Given the description of an element on the screen output the (x, y) to click on. 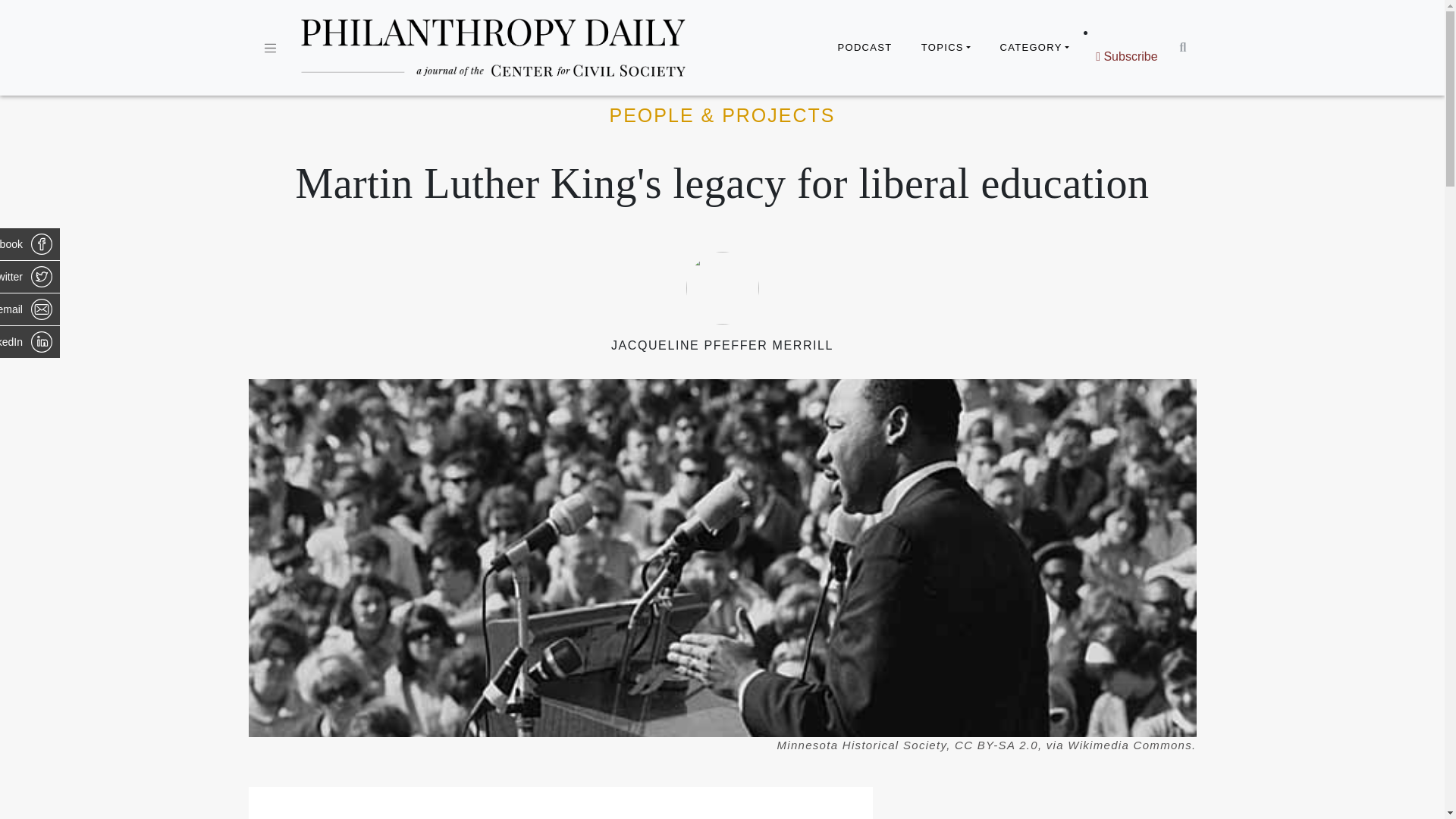
PODCAST (864, 47)
  Share on Facebook (29, 244)
TOPICS (945, 47)
Share via email (29, 309)
Share on LinkedIn (29, 341)
Share on Twitter (29, 276)
